Given the description of an element on the screen output the (x, y) to click on. 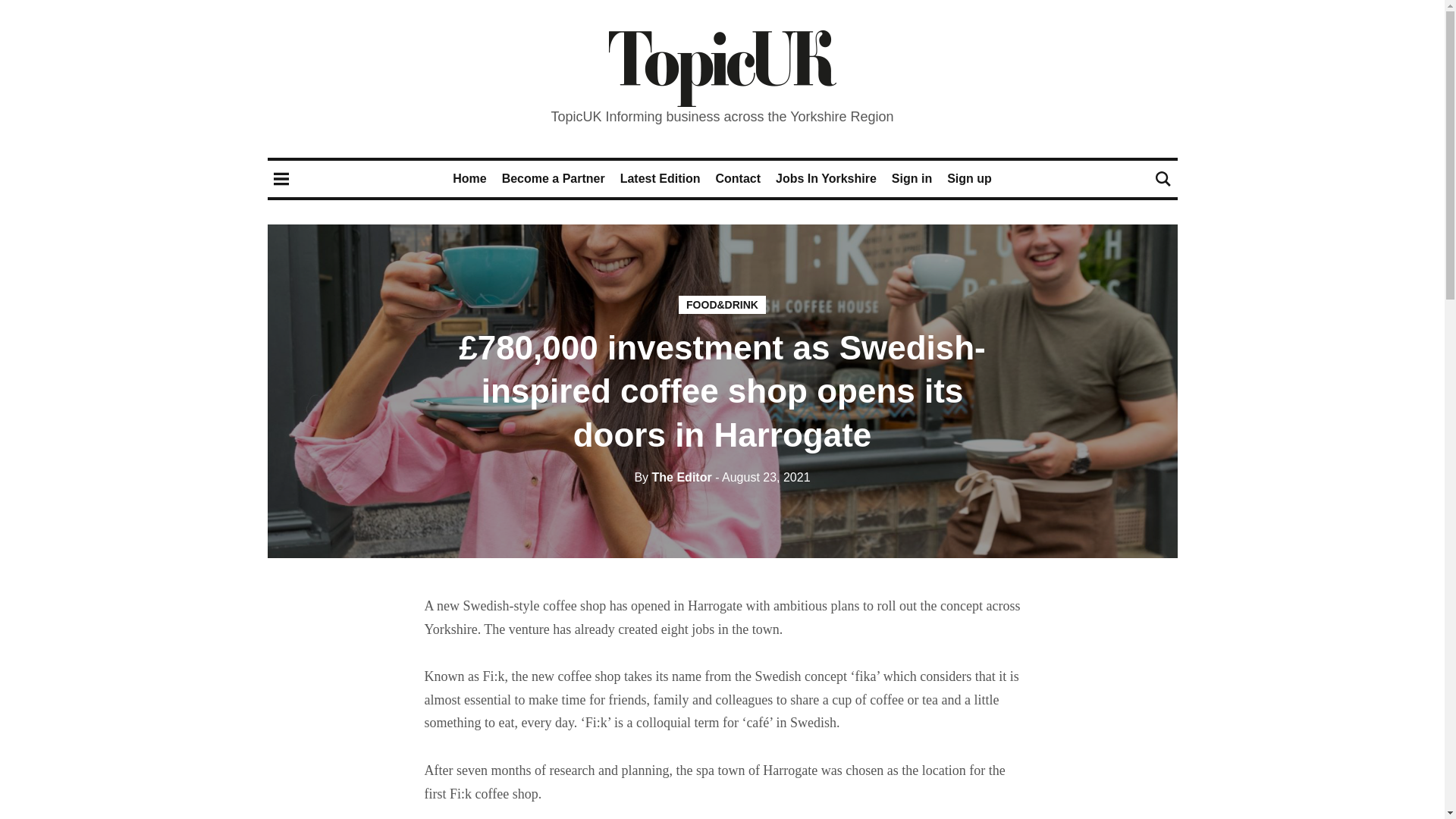
Sign up (969, 178)
Home (469, 178)
23 August, 2021 (761, 477)
Jobs In Yorkshire (826, 178)
Sign in (911, 178)
Contact (737, 178)
By The Editor (672, 477)
Become a Partner (553, 178)
